Given the description of an element on the screen output the (x, y) to click on. 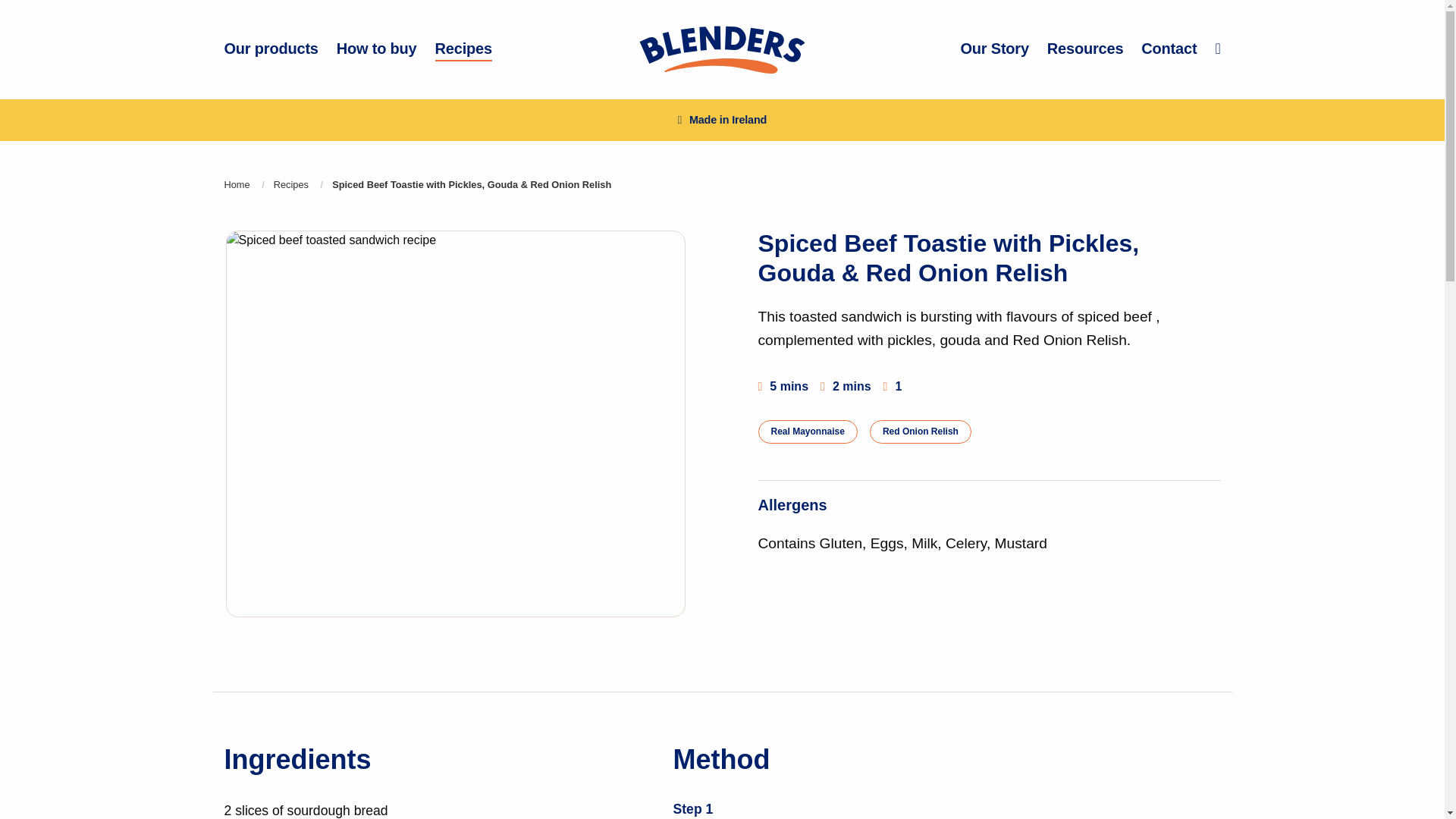
Our Story (993, 48)
Our products (271, 48)
Home (237, 184)
Recipes (290, 184)
Real Mayonnaise (807, 430)
Recipes (463, 48)
How to buy (376, 48)
Red Onion Relish (920, 430)
Resources (1084, 48)
Contact (1168, 48)
